Given the description of an element on the screen output the (x, y) to click on. 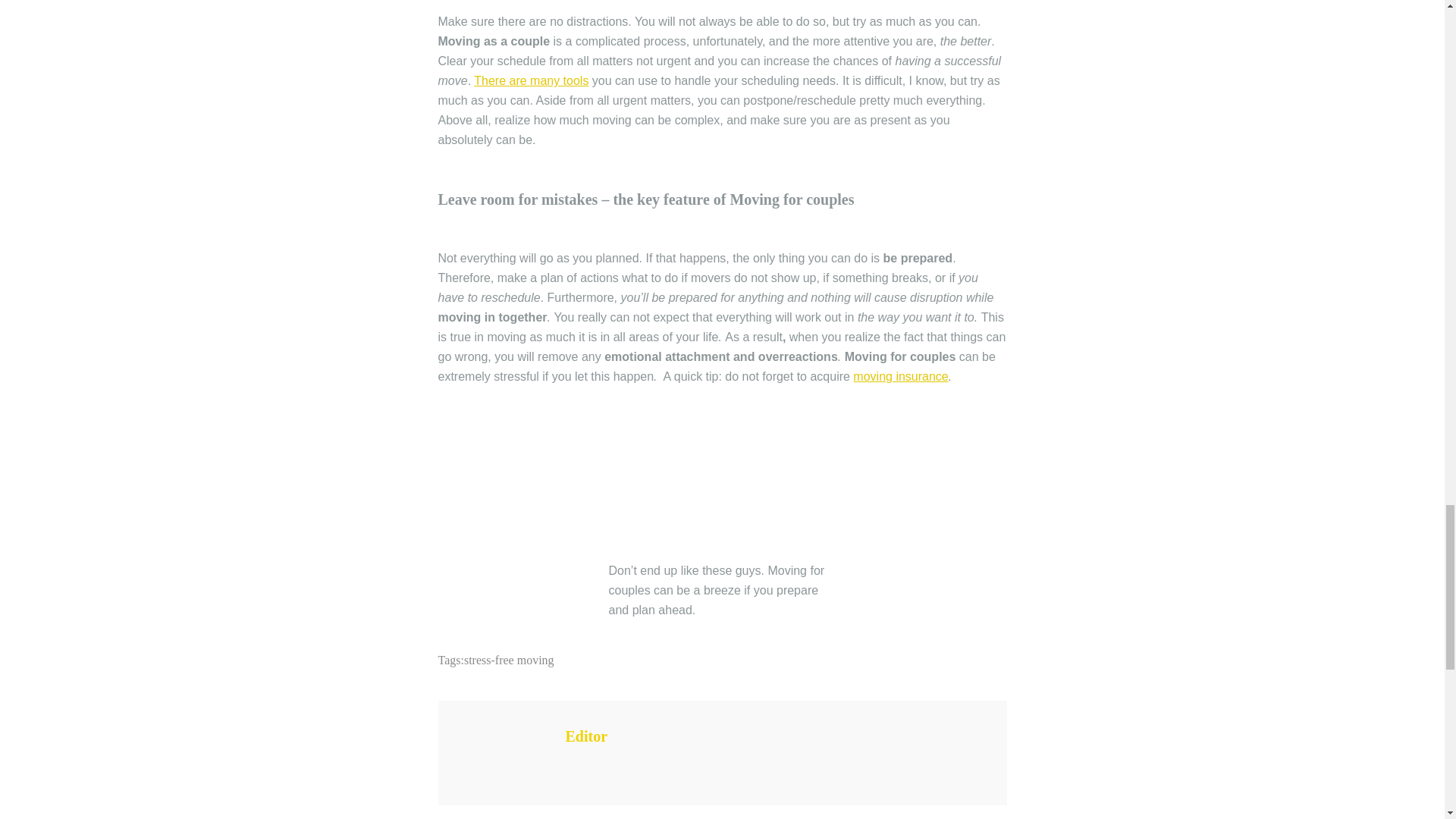
There are many tools (531, 80)
stress-free moving (509, 659)
moving insurance (900, 376)
